Given the description of an element on the screen output the (x, y) to click on. 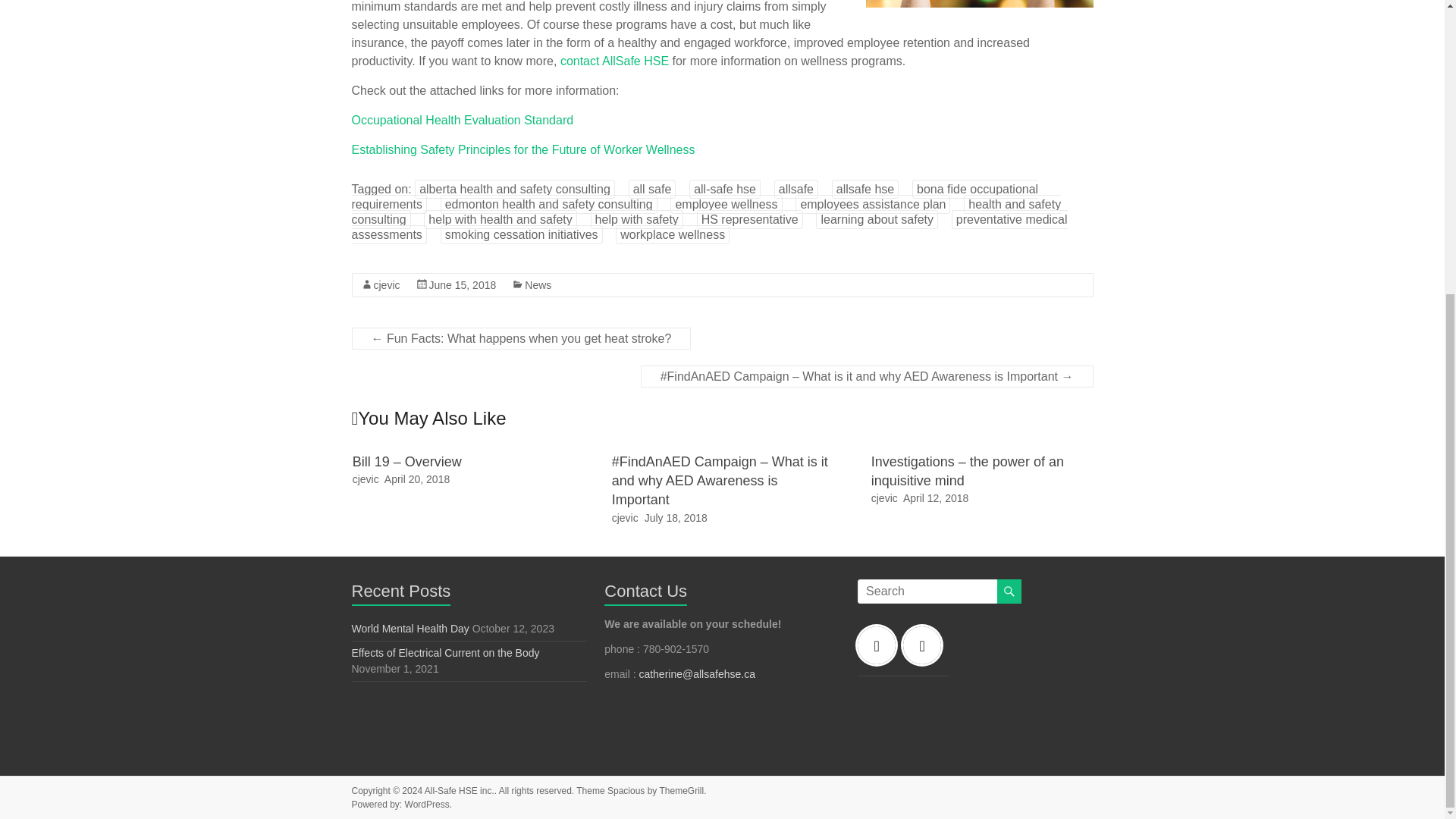
News (537, 285)
learning about safety (876, 219)
4:58 pm (935, 498)
June 15, 2018 (462, 285)
all-safe hse (724, 189)
8:24 pm (416, 479)
edmonton health and safety consulting (549, 203)
Occupational Health Evaluation Standard (462, 119)
employees assistance plan (872, 203)
all safe (652, 189)
